Given the description of an element on the screen output the (x, y) to click on. 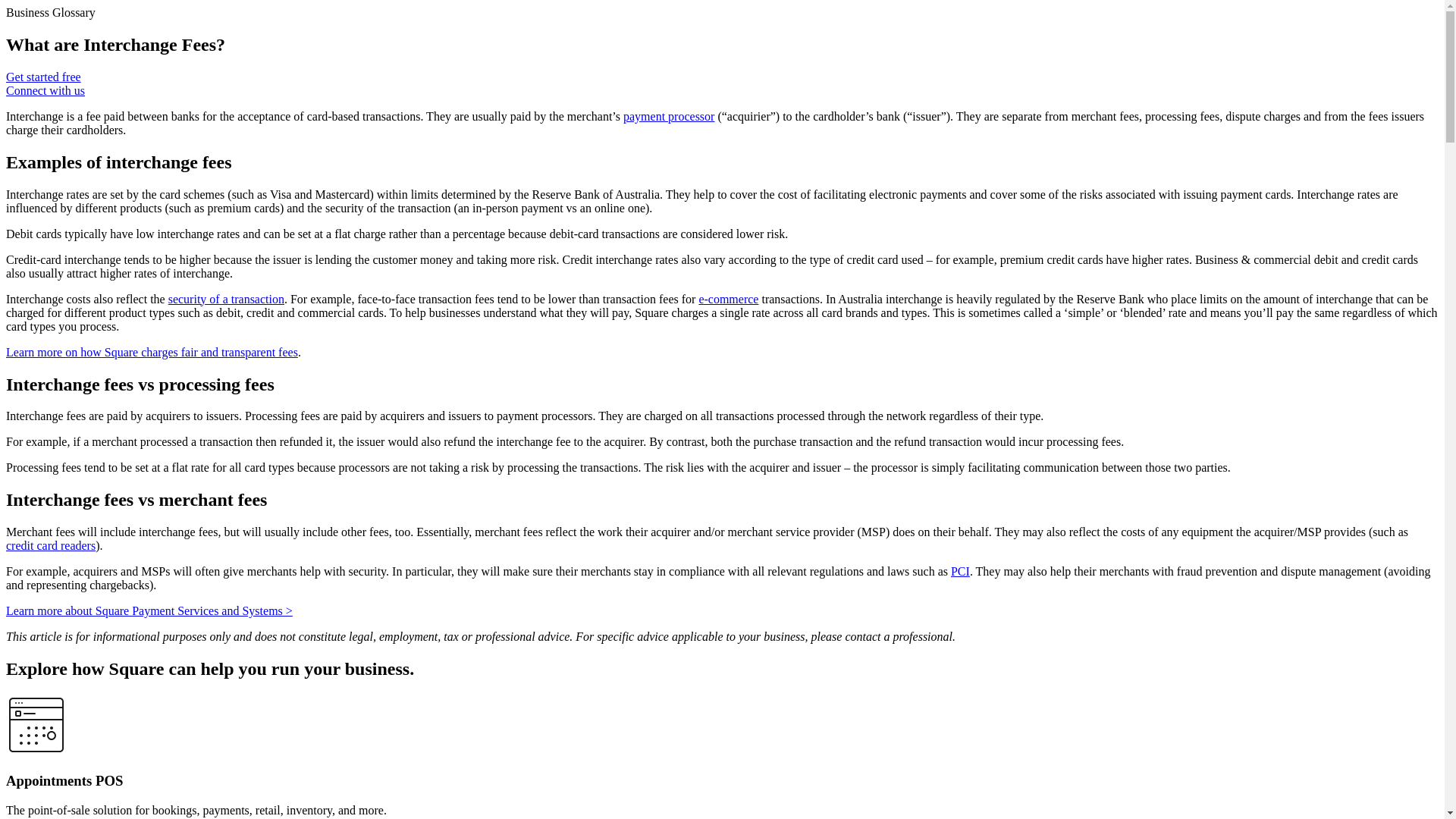
Connect with us (44, 90)
Get started free (43, 76)
e-commerce (728, 298)
payment processor (668, 115)
PCI (959, 571)
Learn more on how Square charges fair and transparent fees (151, 351)
security of a transaction (225, 298)
credit card readers (50, 545)
